Given the description of an element on the screen output the (x, y) to click on. 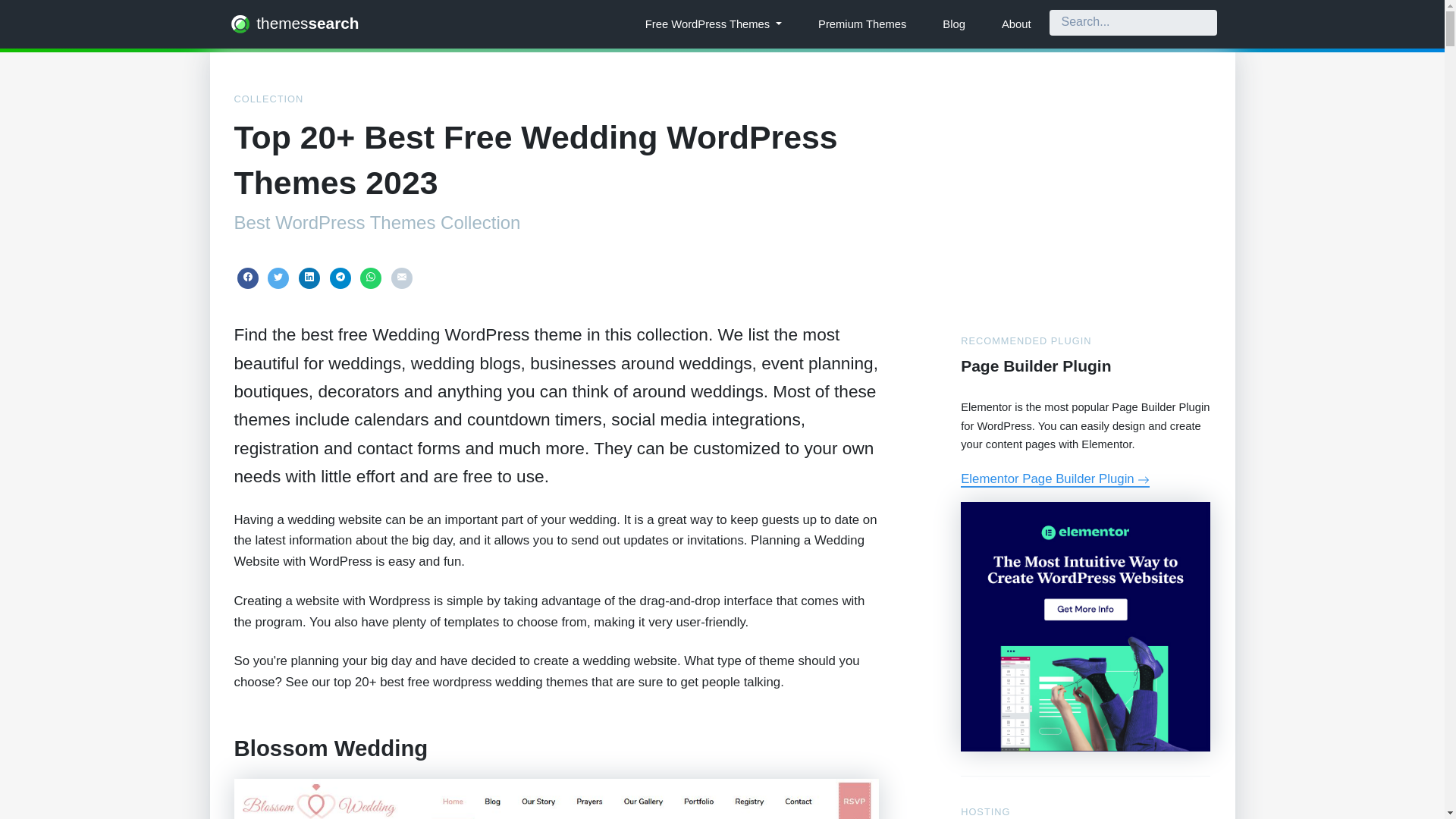
Share on twitter (277, 278)
Share via email (401, 278)
Blog (954, 23)
themessearch (292, 24)
Premium Themes (861, 23)
About (1016, 23)
Share on facebook (246, 278)
Share on whatsapp (370, 278)
Free WordPress Themes (713, 23)
Share on linkedin (309, 278)
